Given the description of an element on the screen output the (x, y) to click on. 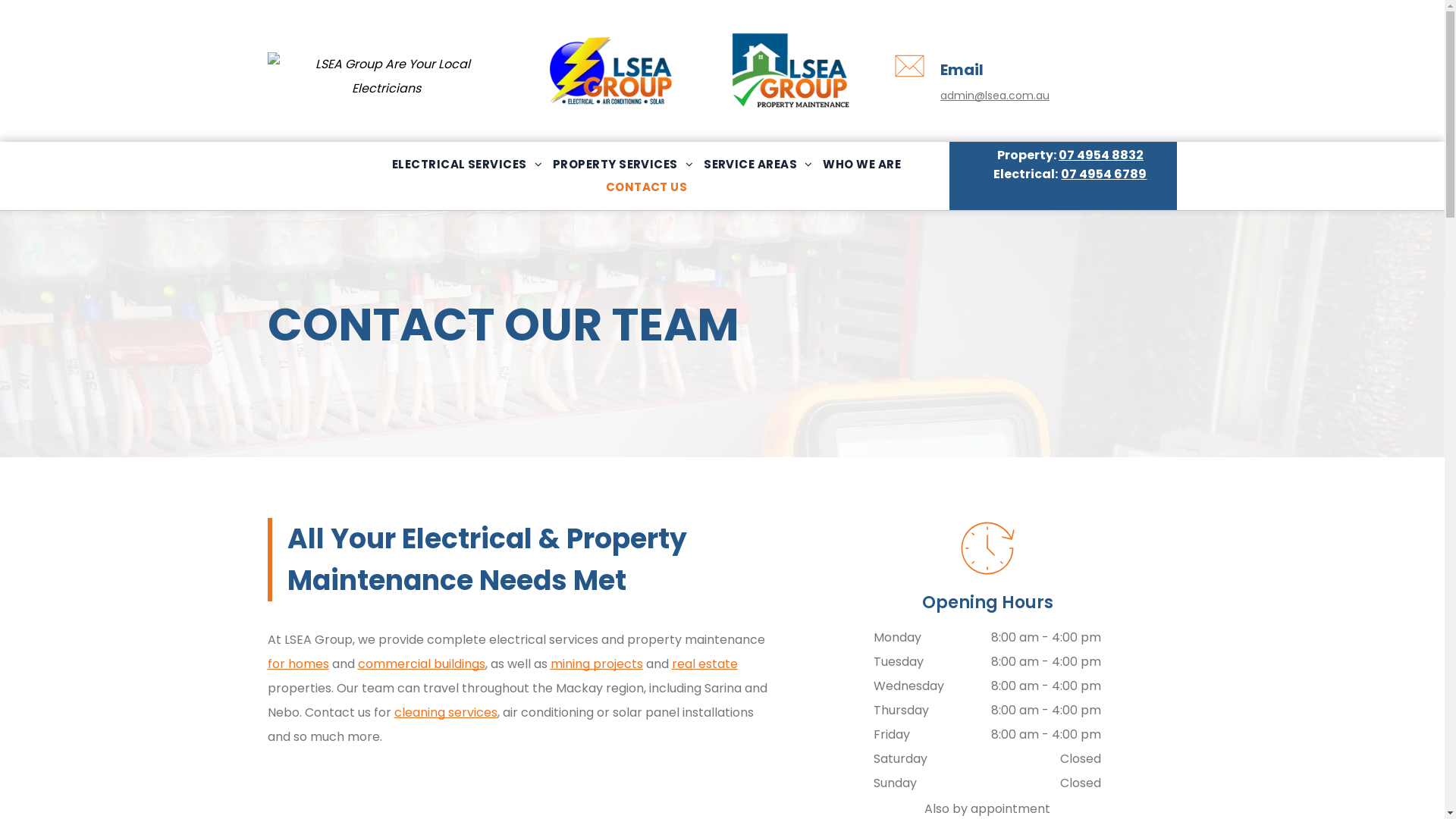
CONTACT US Element type: text (646, 186)
WHO WE ARE Element type: text (861, 164)
ELECTRICAL SERVICES Element type: text (466, 164)
LSEA Group Property Maintenance Element type: hover (790, 69)
commercial buildings Element type: text (421, 663)
real estate Element type: text (704, 663)
cleaning services Element type: text (445, 712)
PROPERTY SERVICES Element type: text (622, 164)
07 4954 8832 Element type: text (1100, 154)
LSEA Electrical Group Element type: hover (609, 75)
SERVICE AREAS Element type: text (757, 164)
LSEA Group Are Your Local Electricians Element type: hover (385, 76)
for homes Element type: text (297, 663)
07 4954 6789 Element type: text (1103, 173)
mining projects Element type: text (596, 663)
admin@lsea.com.au Element type: text (994, 95)
